Given the description of an element on the screen output the (x, y) to click on. 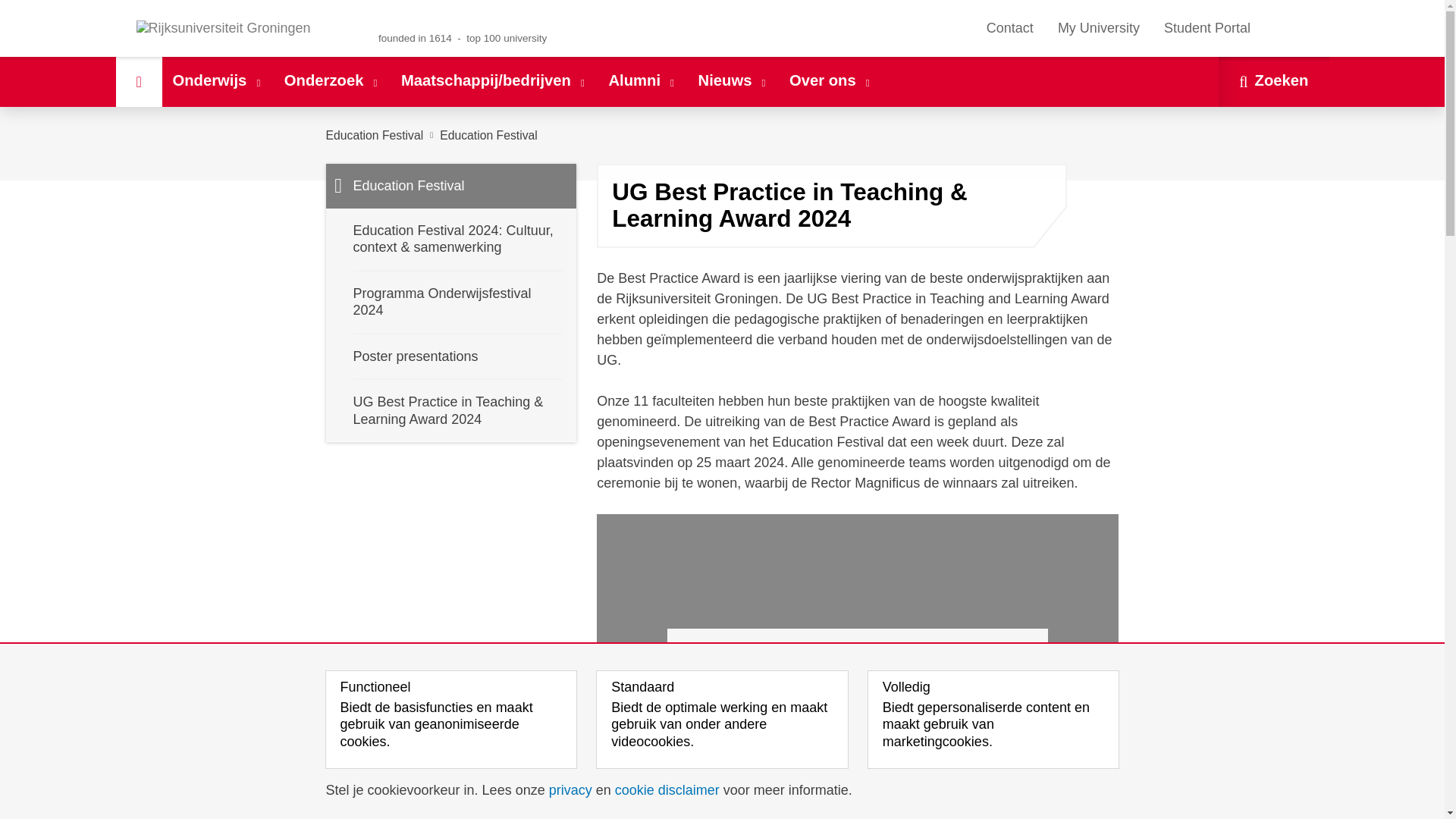
Onderzoek (331, 81)
Nederlands (1272, 28)
Taal selectie (1286, 28)
My University (1098, 28)
Rijksuniversiteit Groningen (241, 28)
Student Portal (1206, 28)
Onderwijs (217, 81)
Home (138, 81)
English (1293, 28)
